Given the description of an element on the screen output the (x, y) to click on. 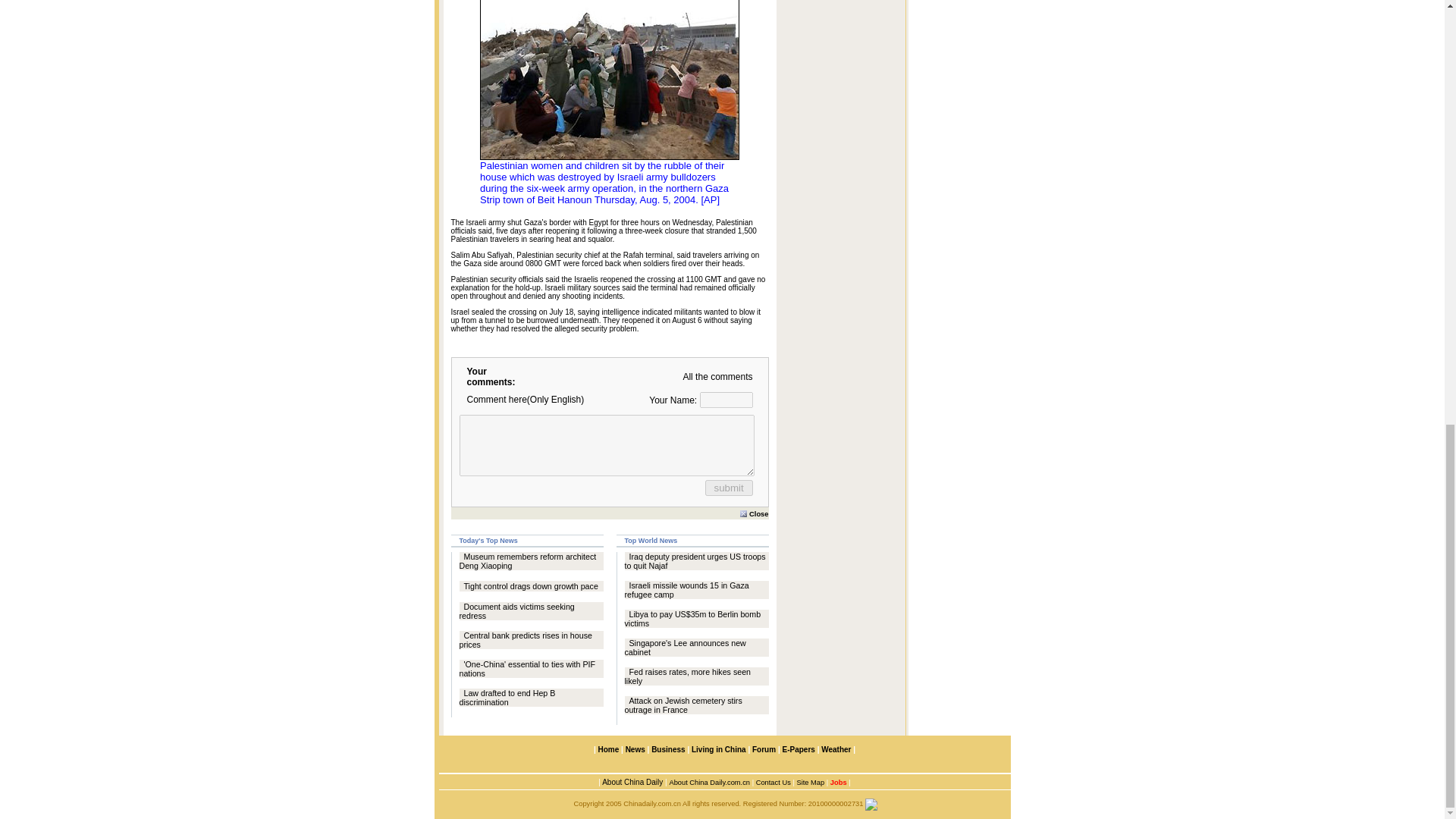
Contact Us (772, 781)
All the comments (717, 376)
Business (667, 749)
Israeli missile wounds 15 in Gaza refugee camp (686, 589)
Jobs (836, 781)
Fed raises rates, more hikes seen likely (687, 676)
E-Papers (797, 749)
News (635, 749)
Forum (764, 749)
'One-China' essential to ties with PIF nations (527, 669)
